Given the description of an element on the screen output the (x, y) to click on. 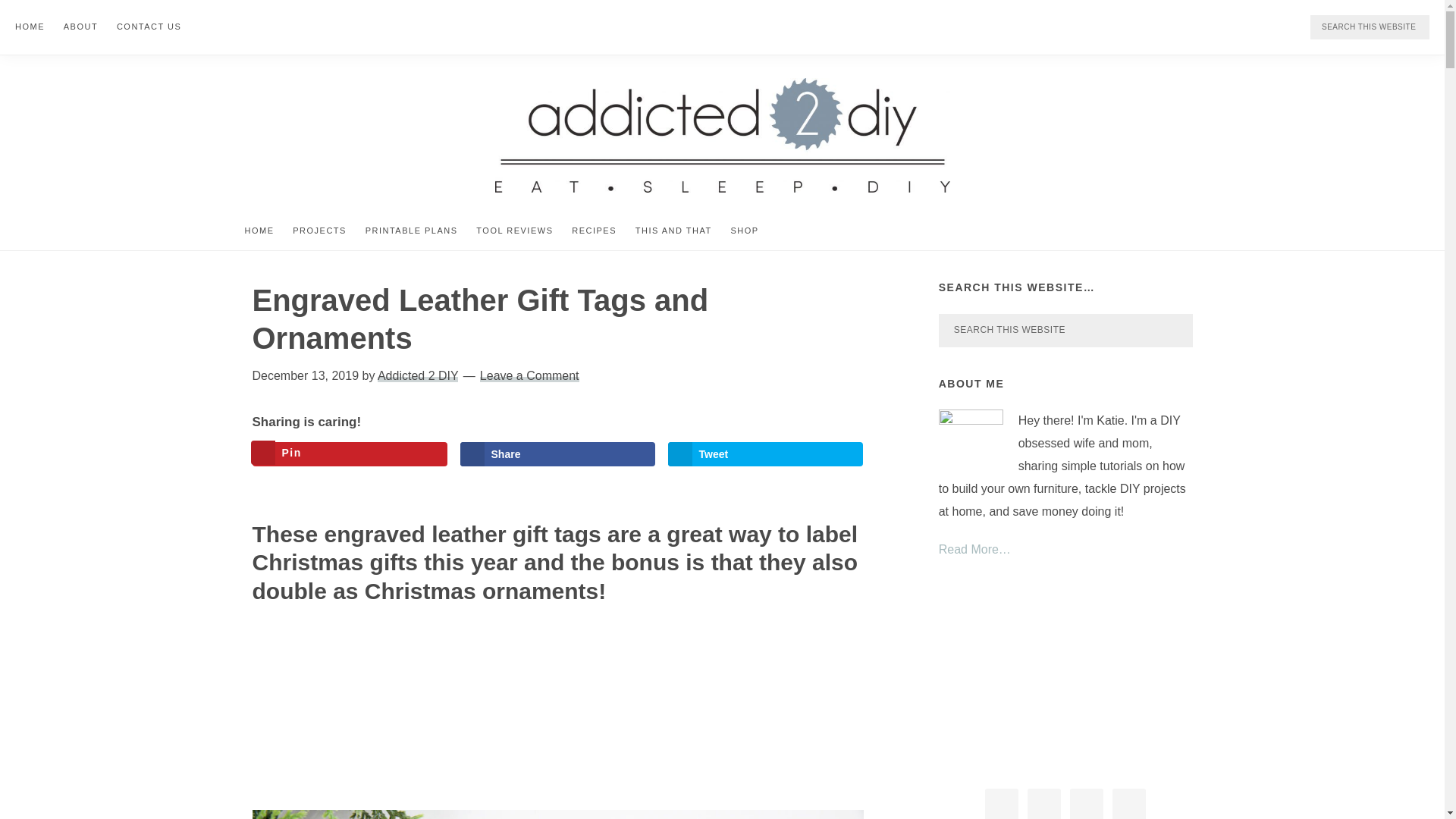
Addicted 2 DIY (417, 375)
Leave a Comment (529, 375)
CONTACT US (149, 26)
SHOP (743, 230)
PROJECTS (319, 230)
ABOUT (80, 26)
Pin (348, 454)
HOME (29, 26)
